Given the description of an element on the screen output the (x, y) to click on. 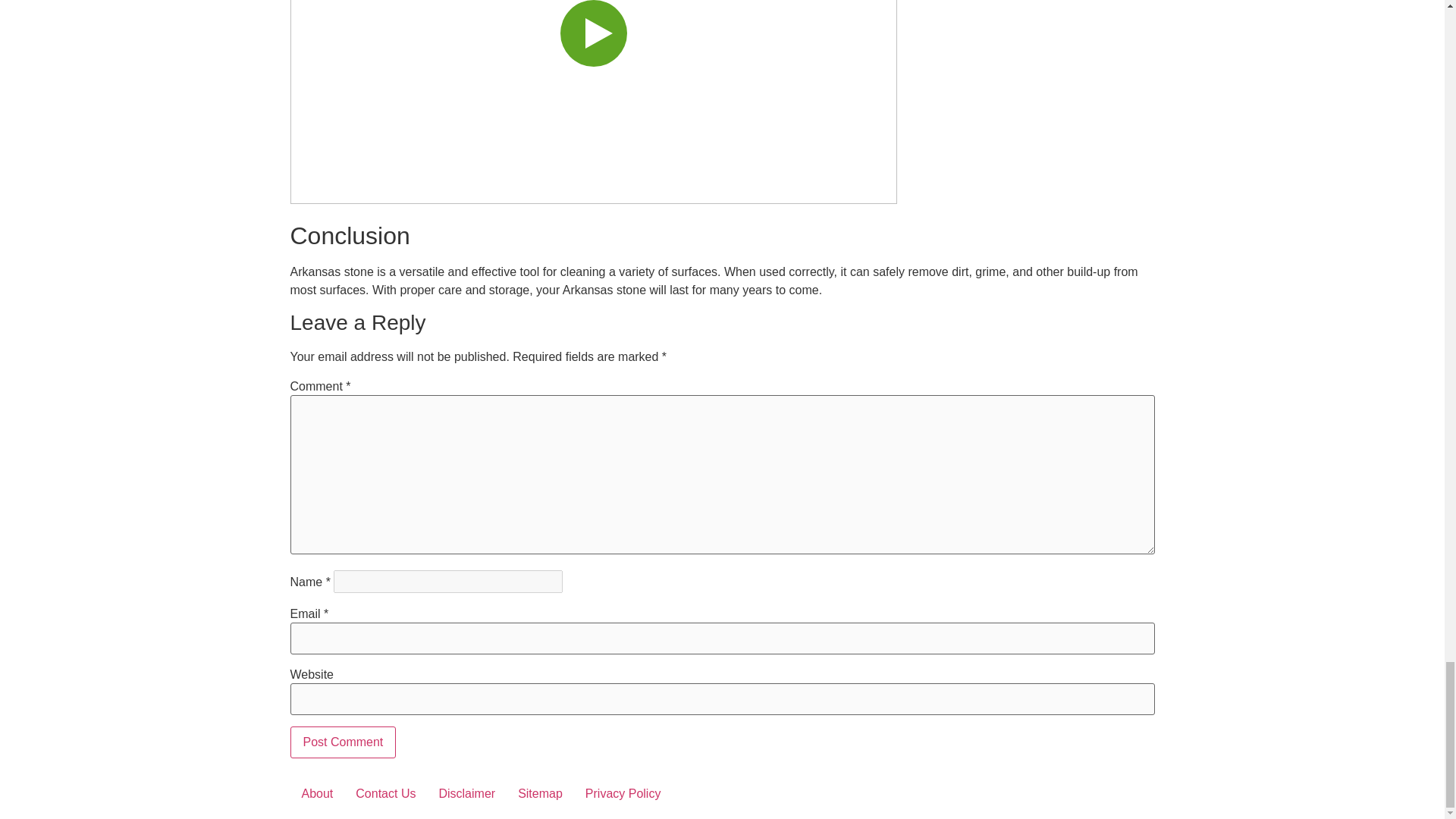
SHOP TIPS - HOW TO - Clean your, Norton Arkansas Hard Stone (592, 101)
Post Comment (342, 742)
Post Comment (342, 742)
Privacy Policy (622, 793)
About (316, 793)
Contact Us (384, 793)
Disclaimer (466, 793)
Sitemap (539, 793)
